Given the description of an element on the screen output the (x, y) to click on. 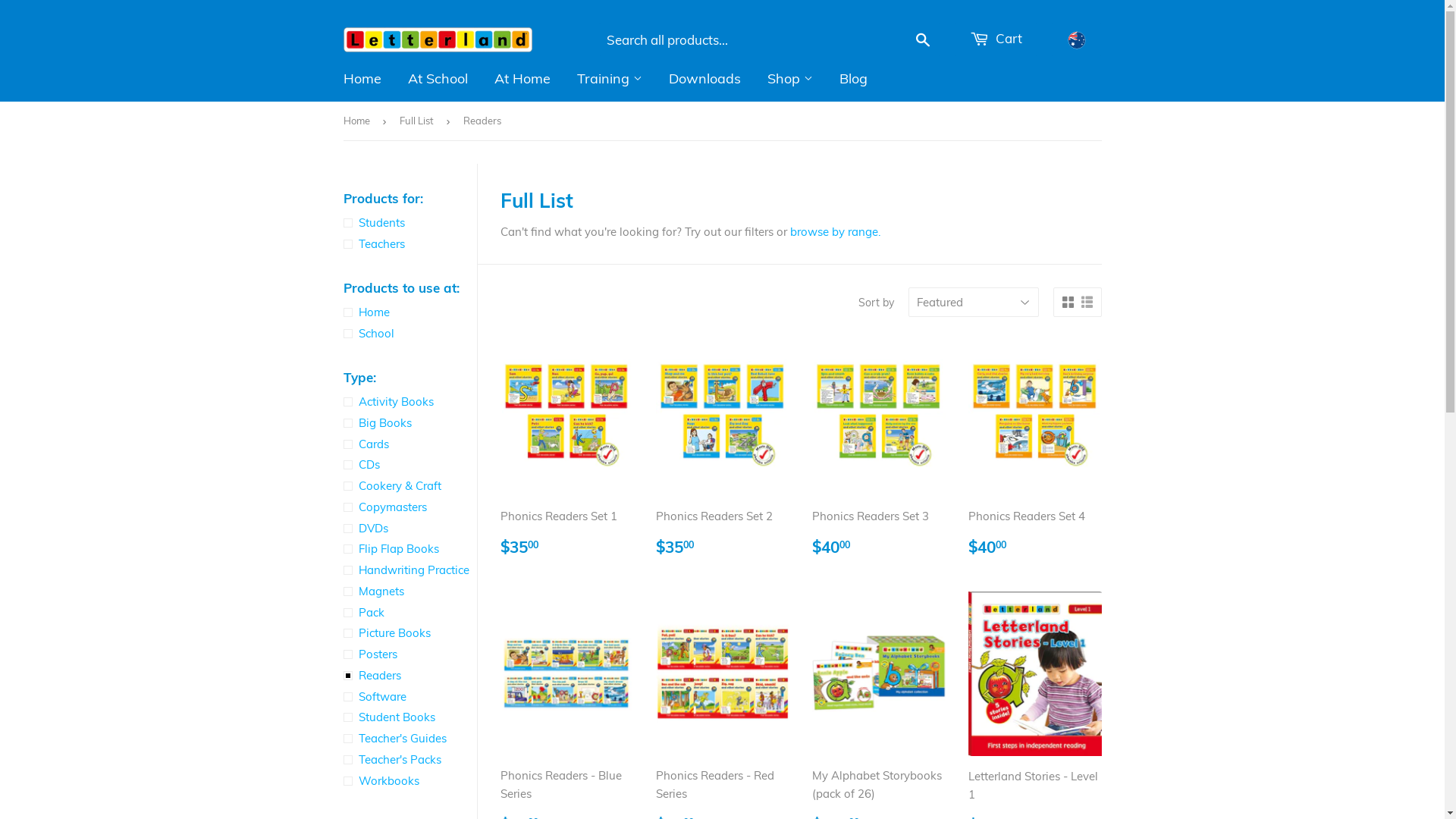
Teachers Element type: text (409, 244)
Workbooks Element type: text (409, 780)
browse by range. Element type: text (835, 231)
Home Element type: text (409, 312)
Phonics Readers Set 4
Regular price
$4000
$40.00 Element type: text (1034, 450)
Home Element type: text (358, 120)
Grid view Element type: hover (1067, 302)
DVDs Element type: text (409, 528)
Picture Books Element type: text (409, 633)
Blog Element type: text (853, 78)
Phonics Readers Set 3
Regular price
$4000
$40.00 Element type: text (878, 450)
List view Element type: hover (1086, 302)
Student Books Element type: text (409, 717)
Teacher's Guides Element type: text (409, 738)
Search Element type: text (923, 40)
Shop Element type: text (789, 78)
Activity Books Element type: text (409, 401)
Pack Element type: text (409, 612)
Downloads Element type: text (703, 78)
At School Element type: text (436, 78)
Phonics Readers Set 2
Regular price
$3500
$35.00 Element type: text (722, 450)
Cards Element type: text (409, 444)
Software Element type: text (409, 696)
Copymasters Element type: text (409, 507)
Cookery & Craft Element type: text (409, 485)
Flip Flap Books Element type: text (409, 548)
Posters Element type: text (409, 654)
Big Books Element type: text (409, 423)
Teacher's Packs Element type: text (409, 759)
Readers Element type: text (409, 675)
CDs Element type: text (409, 464)
Handwriting Practice Element type: text (409, 570)
School Element type: text (409, 333)
Training Element type: text (609, 78)
Home Element type: text (362, 78)
Phonics Readers Set 1
Regular price
$3500
$35.00 Element type: text (566, 450)
Full List Element type: text (418, 120)
Cart Element type: text (995, 39)
At Home Element type: text (521, 78)
Magnets Element type: text (409, 591)
Students Element type: text (409, 222)
